Given the description of an element on the screen output the (x, y) to click on. 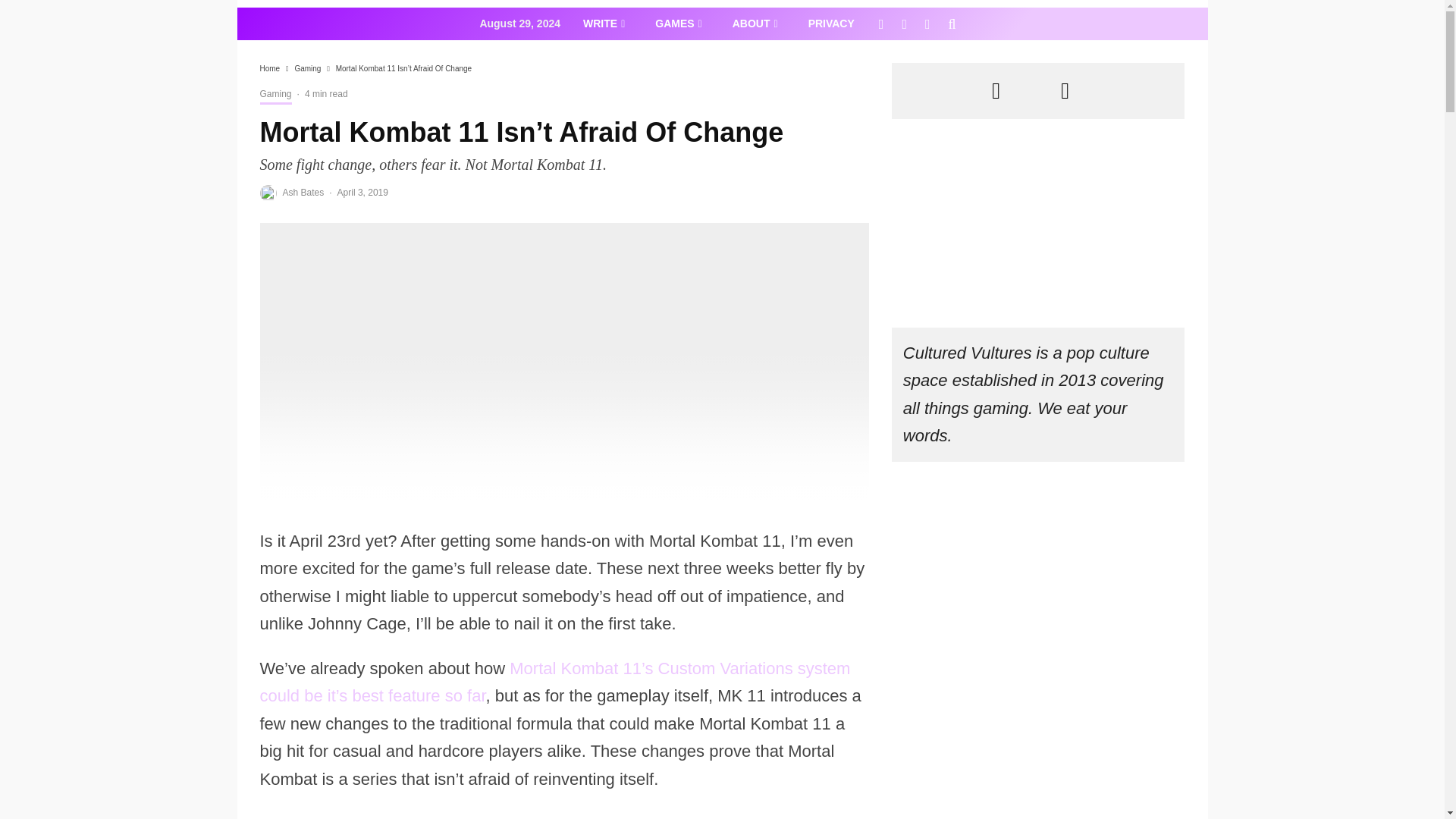
GAMES (678, 23)
Posts by Ash Bates (302, 192)
WRITE (603, 23)
